Given the description of an element on the screen output the (x, y) to click on. 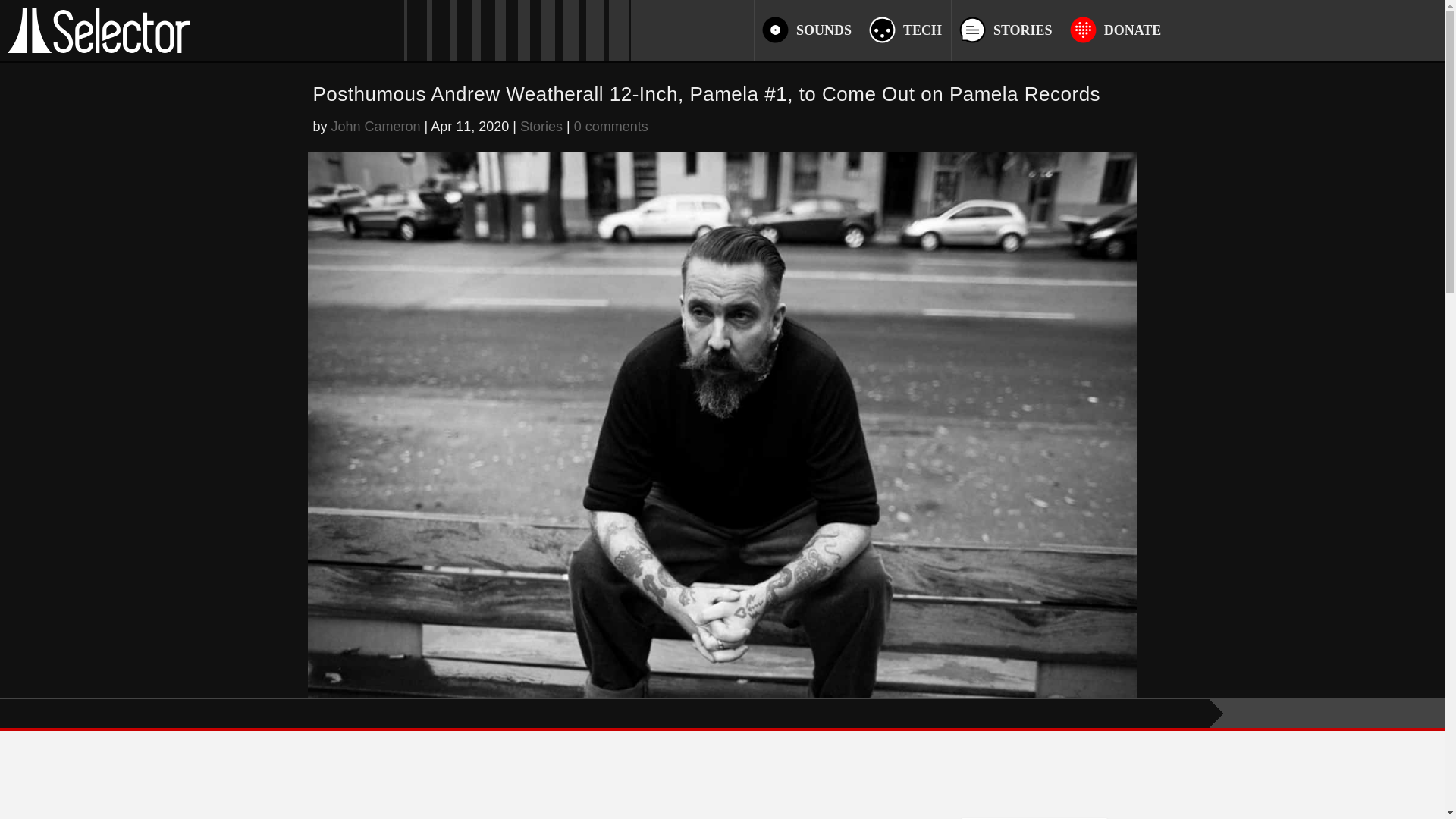
Search (37, 15)
SelectorLogoFullHiCon (98, 30)
SOUNDS (823, 31)
nav-selection-tech (922, 31)
Stories (540, 126)
Posts by John Cameron (375, 126)
0 comments (610, 126)
TECH (922, 31)
John Cameron (375, 126)
STORIES (1022, 31)
DONATE (1132, 31)
